Given the description of an element on the screen output the (x, y) to click on. 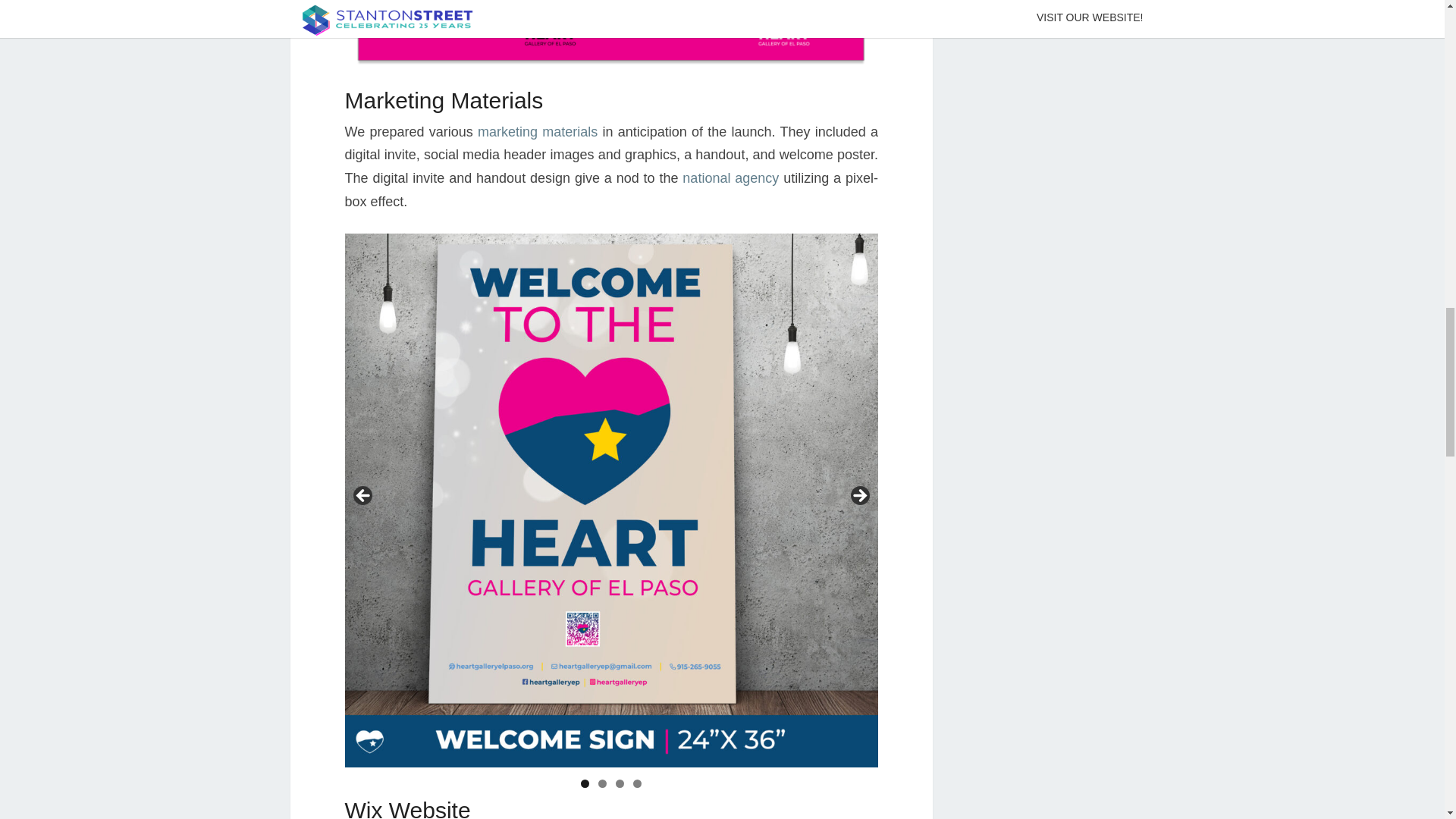
marketing materials (536, 131)
4 (637, 783)
3 (619, 783)
1 (584, 783)
2 (602, 783)
national agency (730, 177)
